Given the description of an element on the screen output the (x, y) to click on. 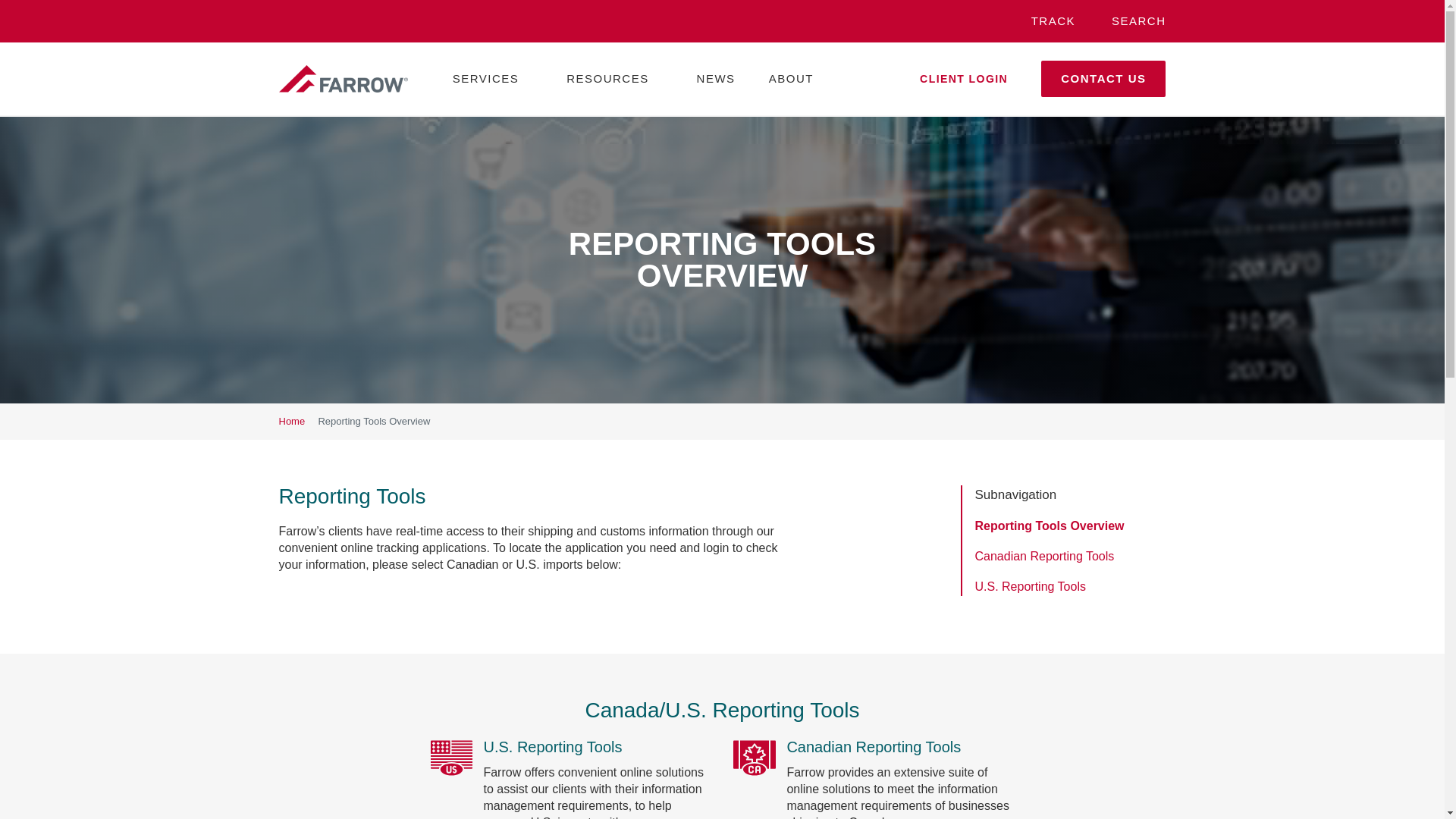
SEARCH (1139, 20)
SERVICES (485, 91)
TRACK (1052, 20)
